Given the description of an element on the screen output the (x, y) to click on. 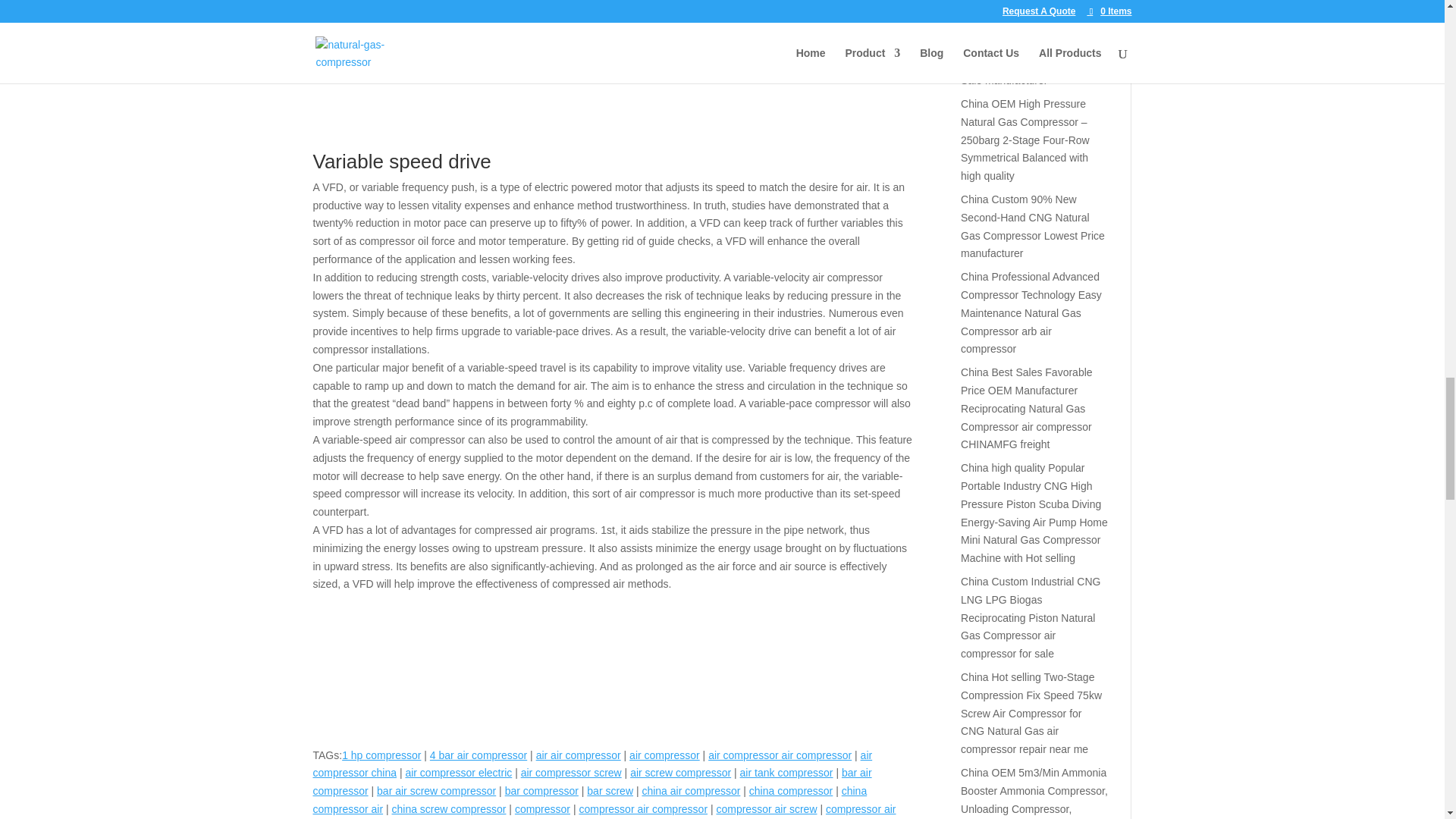
air air compressor (578, 755)
air compressor screw (571, 772)
compressor (542, 808)
bar screw (609, 790)
china screw compressor (448, 808)
air compressor electric (458, 772)
air compressor (664, 755)
air tank compressor (785, 772)
air screw compressor (680, 772)
bar air screw compressor (436, 790)
bar compressor (541, 790)
air compressor air compressor (779, 755)
air compressor china (592, 764)
bar air compressor (591, 781)
compressor air screw (766, 808)
